Given the description of an element on the screen output the (x, y) to click on. 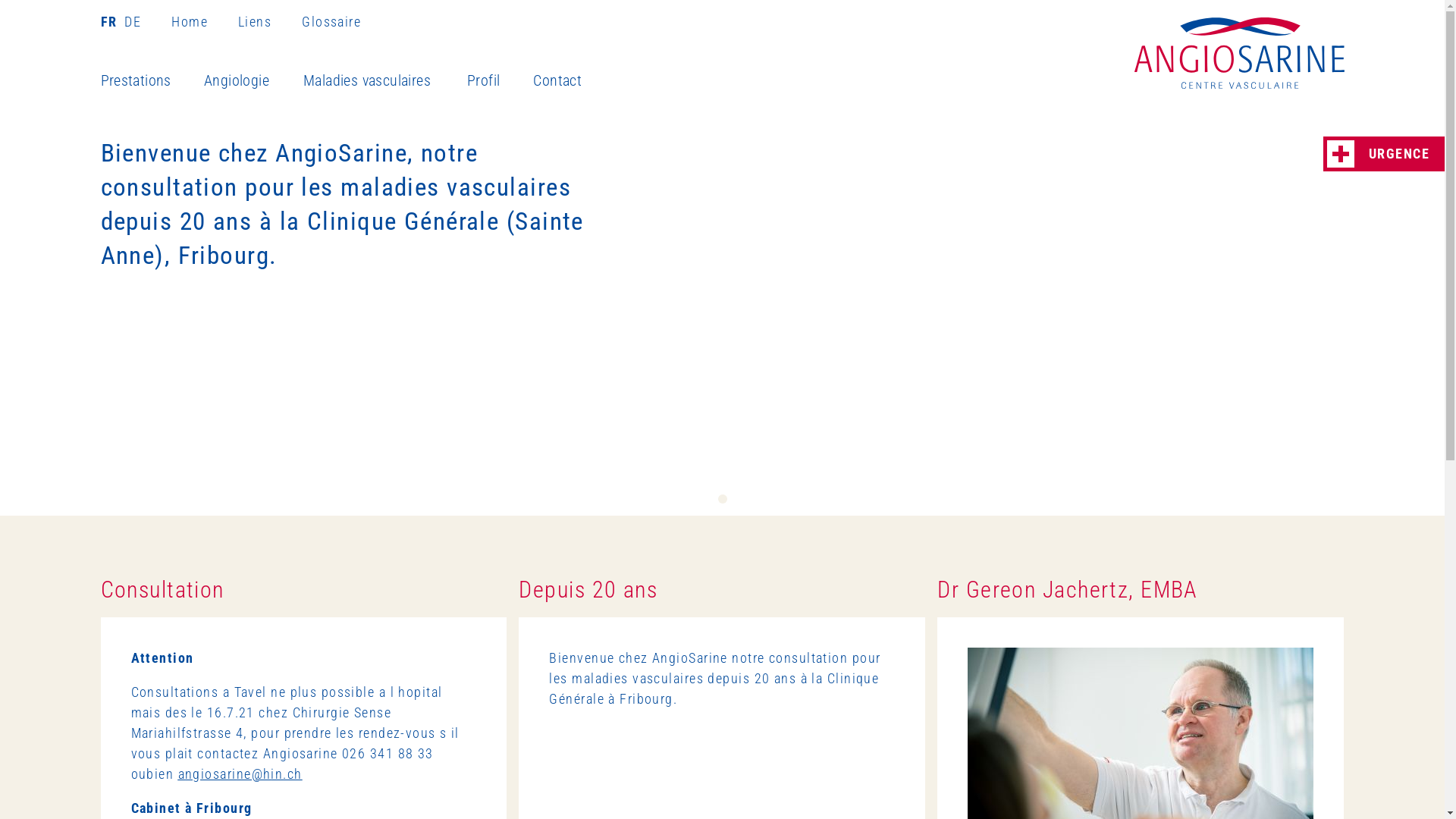
URGENCE Element type: text (1383, 153)
Liens Element type: text (269, 21)
ngsrnhnch Element type: text (240, 773)
Maladies vasculaires Element type: text (385, 80)
Home Element type: text (204, 21)
Glossaire Element type: text (330, 21)
DE Element type: text (130, 21)
Zur Startseite Element type: hover (1238, 52)
Prestations Element type: text (151, 80)
Contact Element type: text (572, 80)
Angiologie Element type: text (253, 80)
FR Element type: text (110, 21)
Profil Element type: text (500, 80)
